Given the description of an element on the screen output the (x, y) to click on. 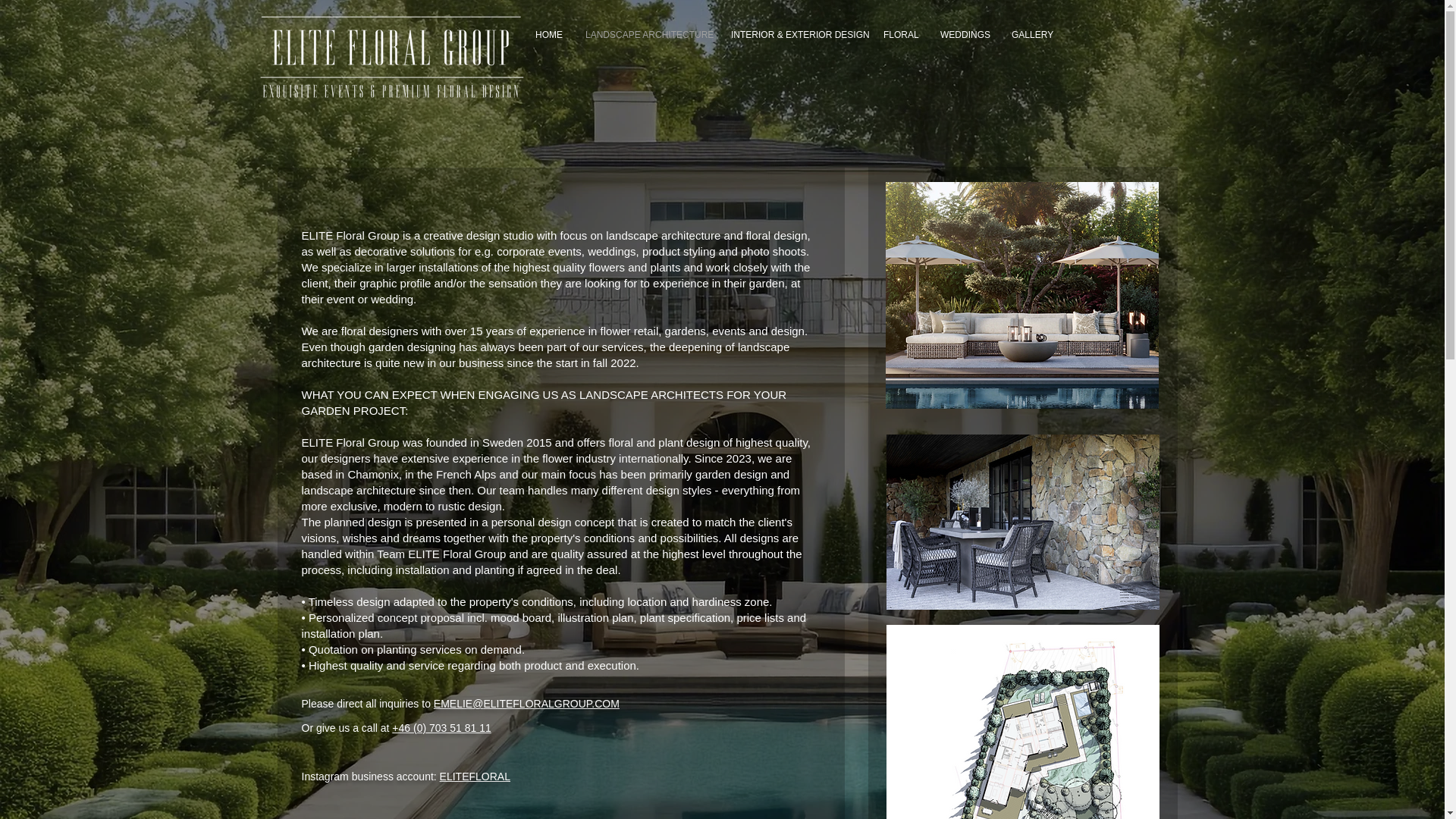
LANDSCAPE ARCHITECTURE (646, 34)
FLORAL (900, 34)
HOME (548, 34)
GALLERY (1030, 34)
ELITEFLORAL (475, 776)
WHITEGIF.gif (389, 57)
WEDDINGS (964, 34)
